Given the description of an element on the screen output the (x, y) to click on. 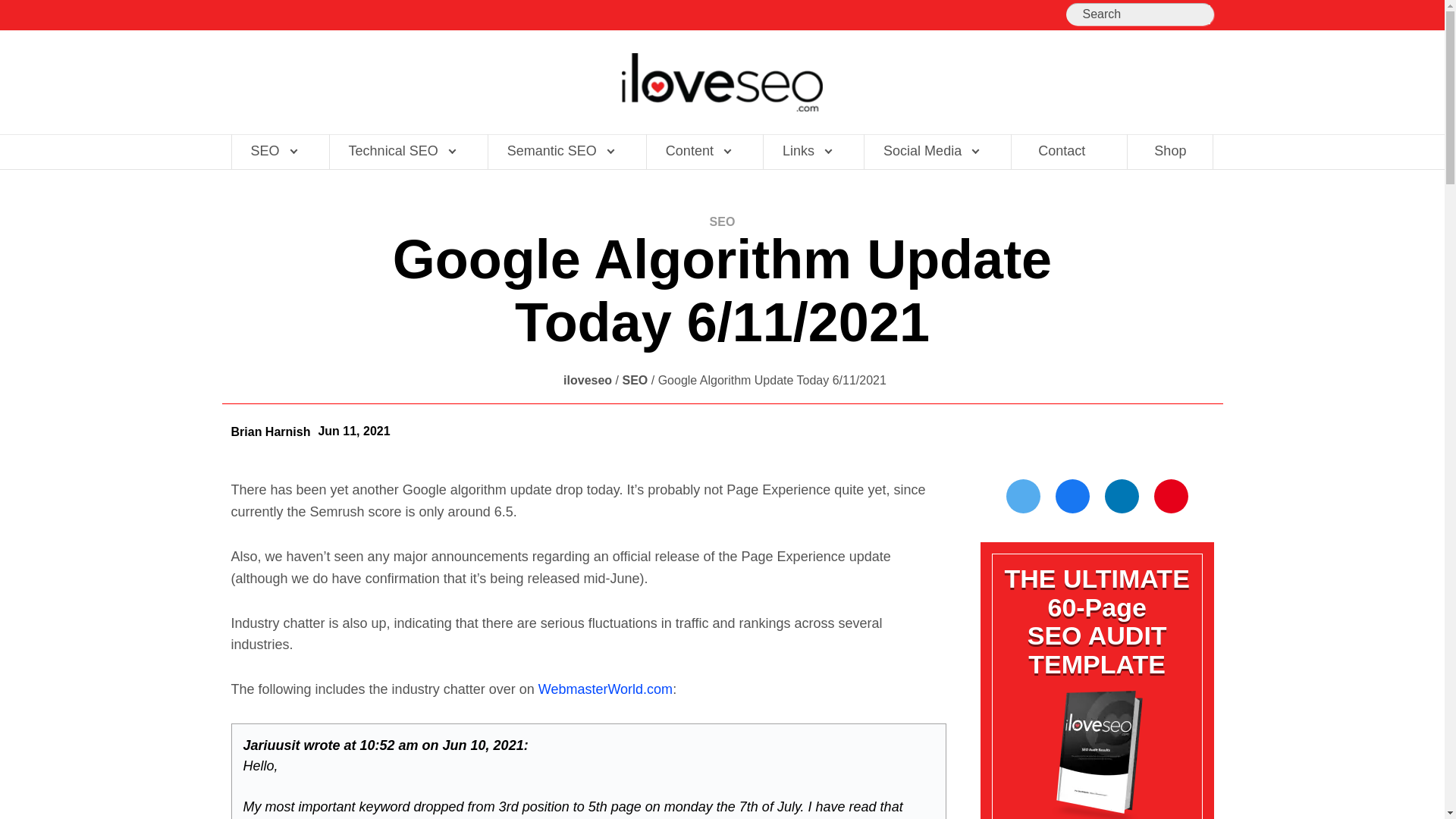
Brian Harnish (270, 431)
The Friendliest Source of Industry News and Information (721, 82)
Linkedin (1121, 496)
SEO (272, 151)
Pinterest (1171, 496)
Facebook (1072, 496)
Technical SEO (400, 151)
Twitter (1023, 496)
